Given the description of an element on the screen output the (x, y) to click on. 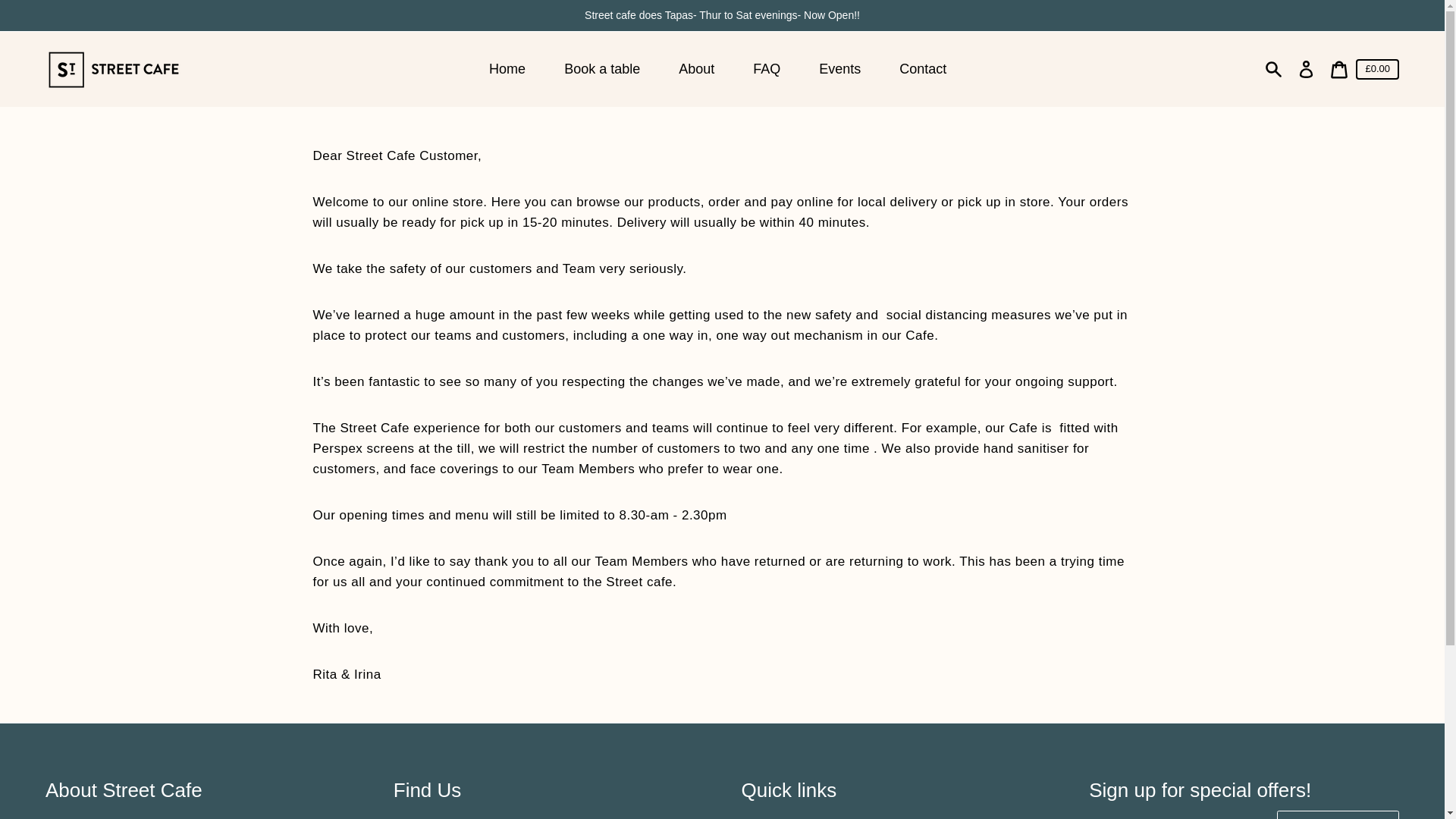
Einloggen (1306, 69)
Home (509, 69)
About (698, 69)
FAQ (768, 69)
Book a table (604, 69)
Contact (924, 69)
Suchen (1273, 69)
Events (841, 69)
Warenkorb (1338, 69)
ABONNIEREN (1337, 814)
